Given the description of an element on the screen output the (x, y) to click on. 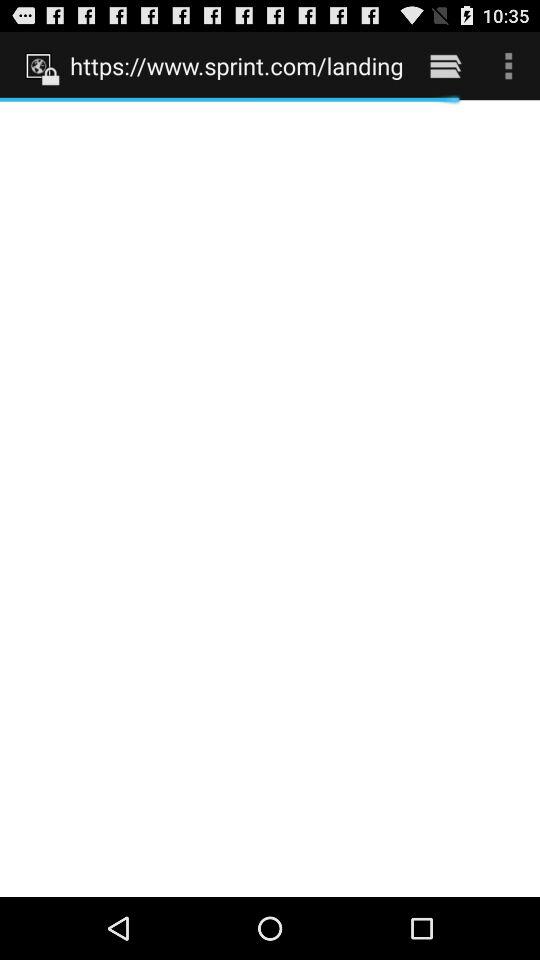
open the icon to the right of https www sprint (444, 65)
